Given the description of an element on the screen output the (x, y) to click on. 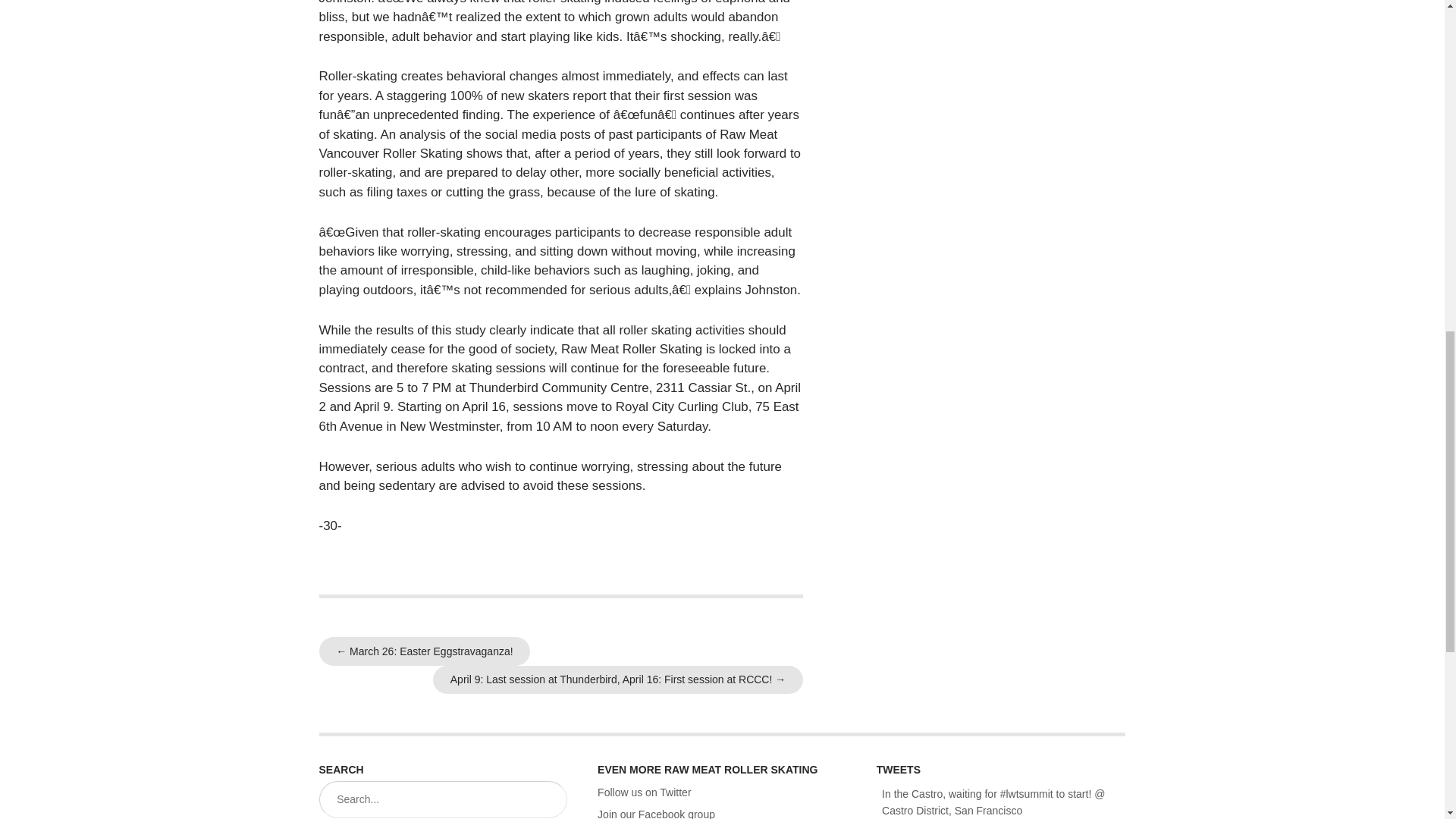
Join our Facebook group (655, 813)
Search (549, 800)
Follow us on Twitter (643, 792)
Follow Raw Meat Vancouver on Twitter (643, 792)
Search (549, 800)
Search (549, 800)
Join our Facebook group for the latest Raw Meat news (655, 813)
